Given the description of an element on the screen output the (x, y) to click on. 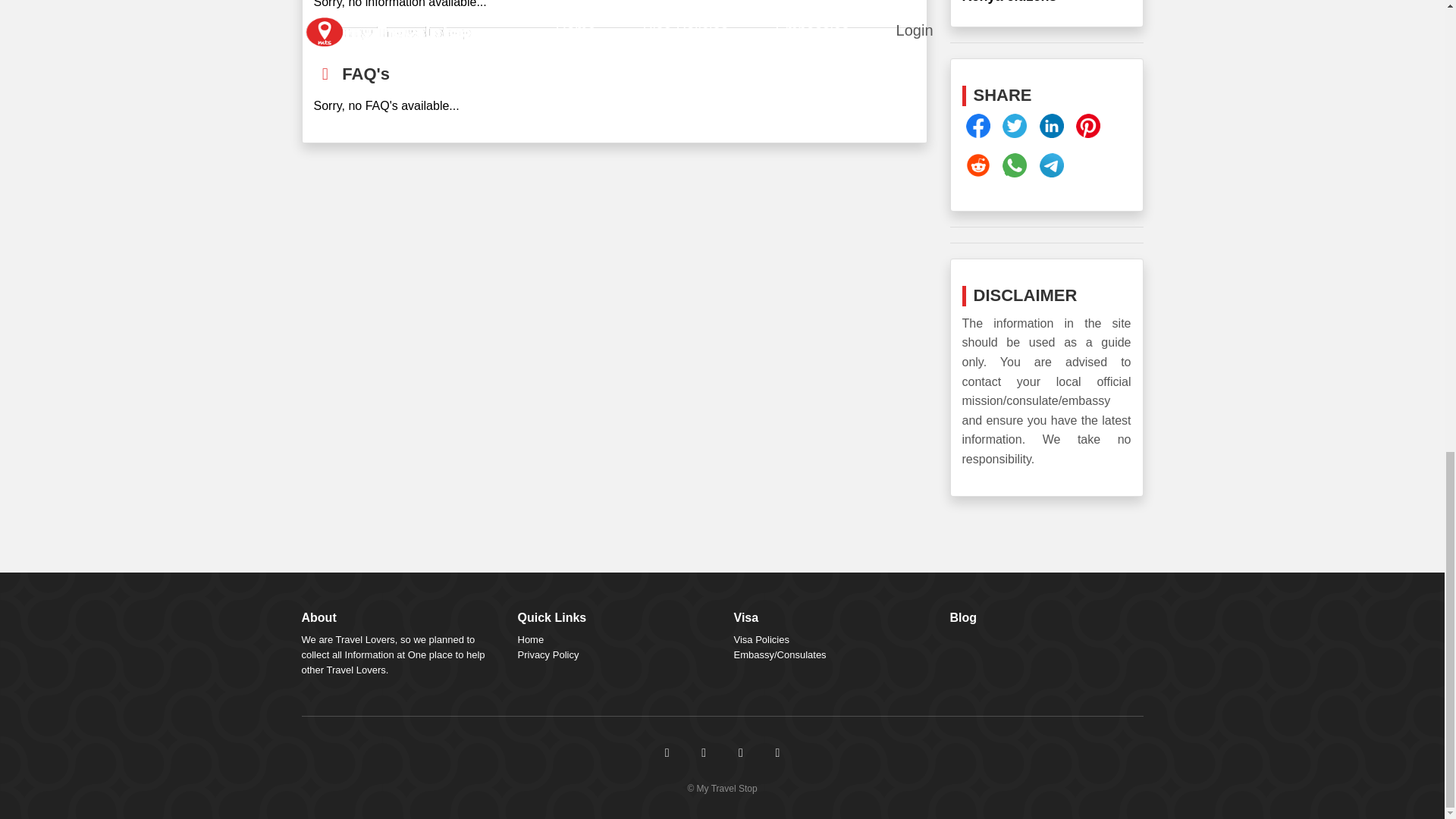
Home (529, 639)
Mozambique visa for Kenya citizens (1045, 2)
Visa Policies (761, 639)
Privacy Policy (547, 654)
